Given the description of an element on the screen output the (x, y) to click on. 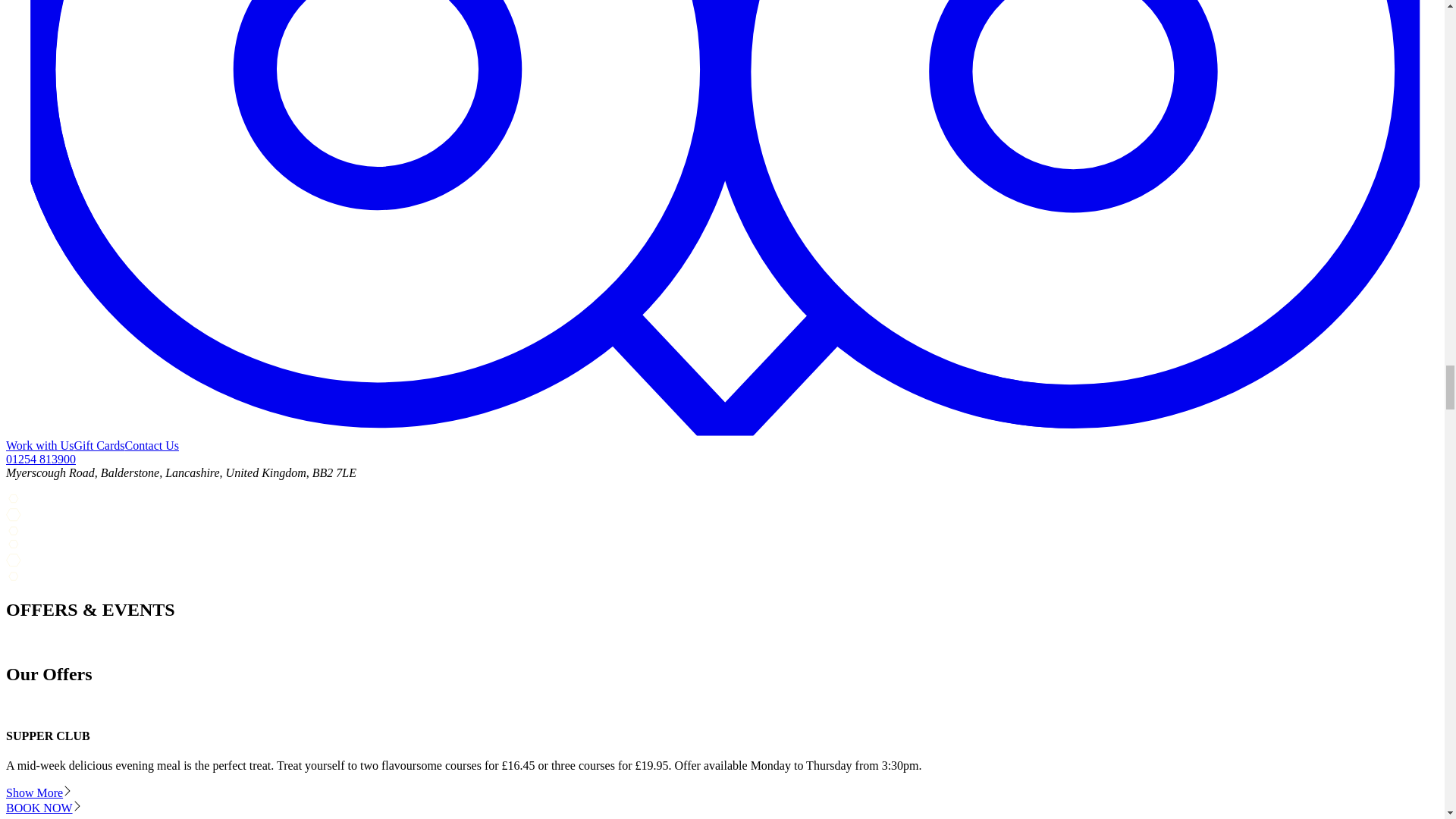
Work with Us (39, 445)
Gift Cards (98, 445)
BOOK NOW (42, 807)
01254 813900 (40, 459)
Contact Us (151, 445)
Show More (37, 792)
